Given the description of an element on the screen output the (x, y) to click on. 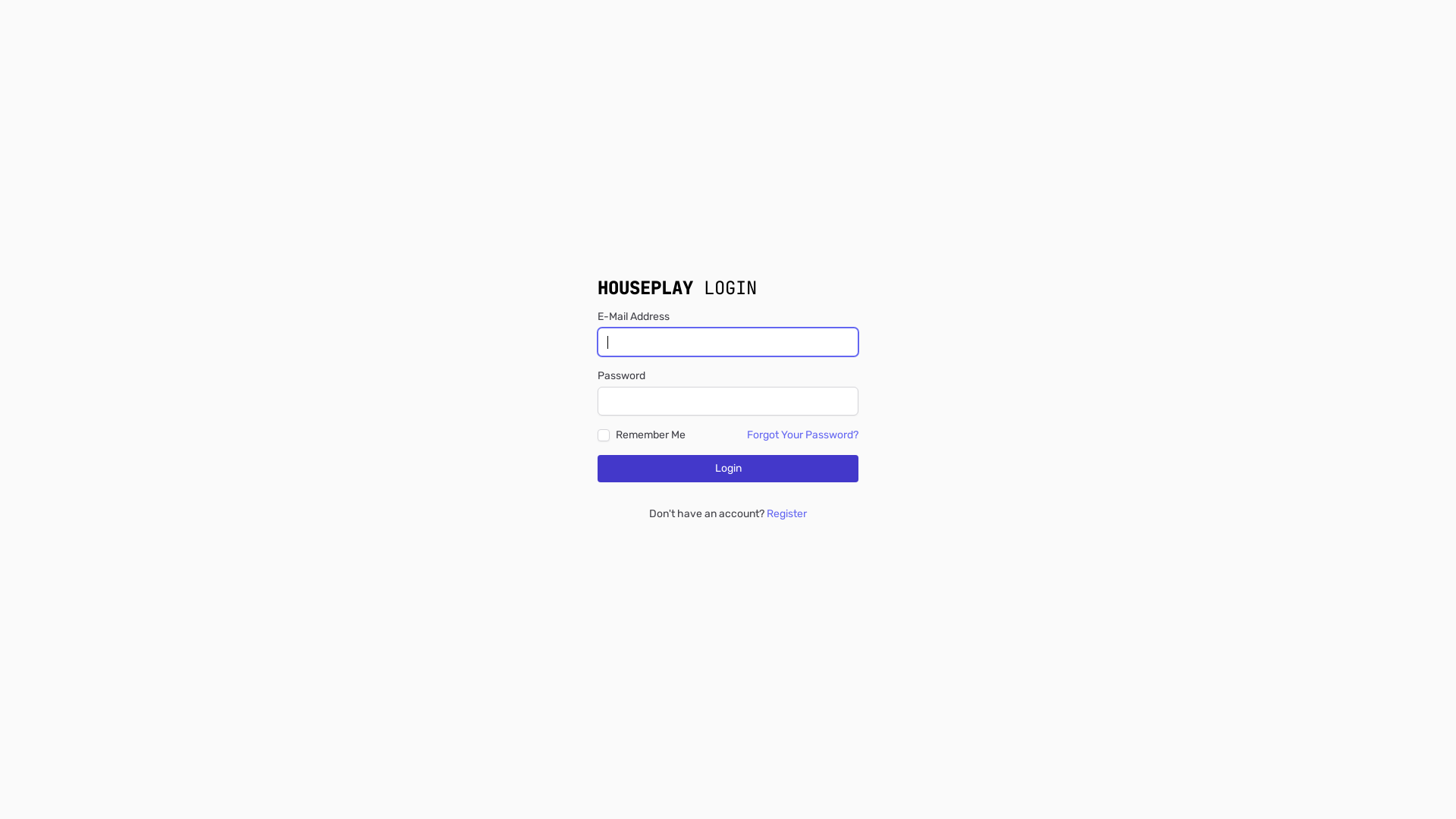
Login Element type: text (727, 468)
Register Element type: text (786, 513)
Forgot Your Password? Element type: text (802, 434)
